Given the description of an element on the screen output the (x, y) to click on. 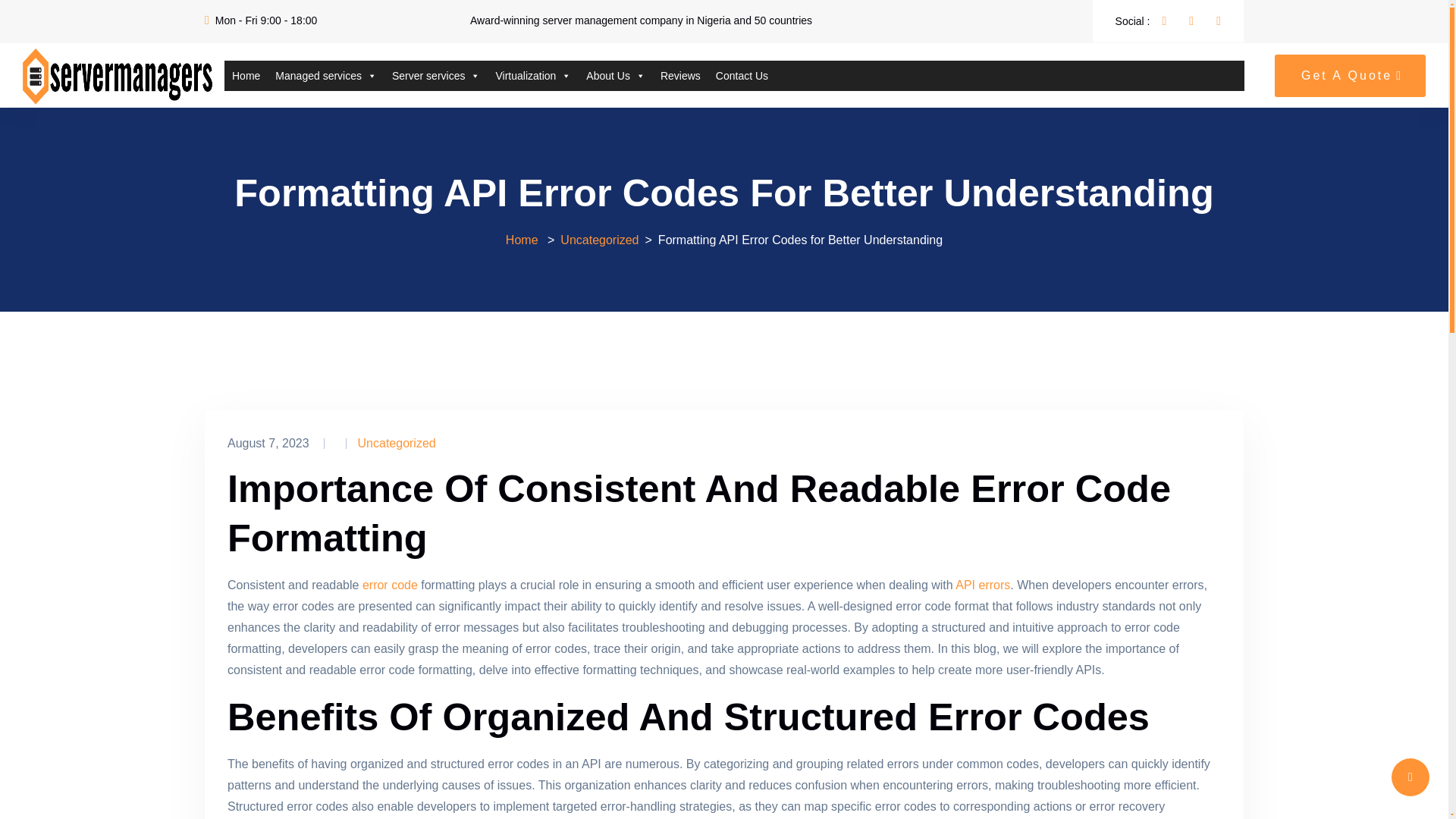
Virtualization (532, 75)
Home (245, 75)
Managed services (325, 75)
Server services (435, 75)
